Given the description of an element on the screen output the (x, y) to click on. 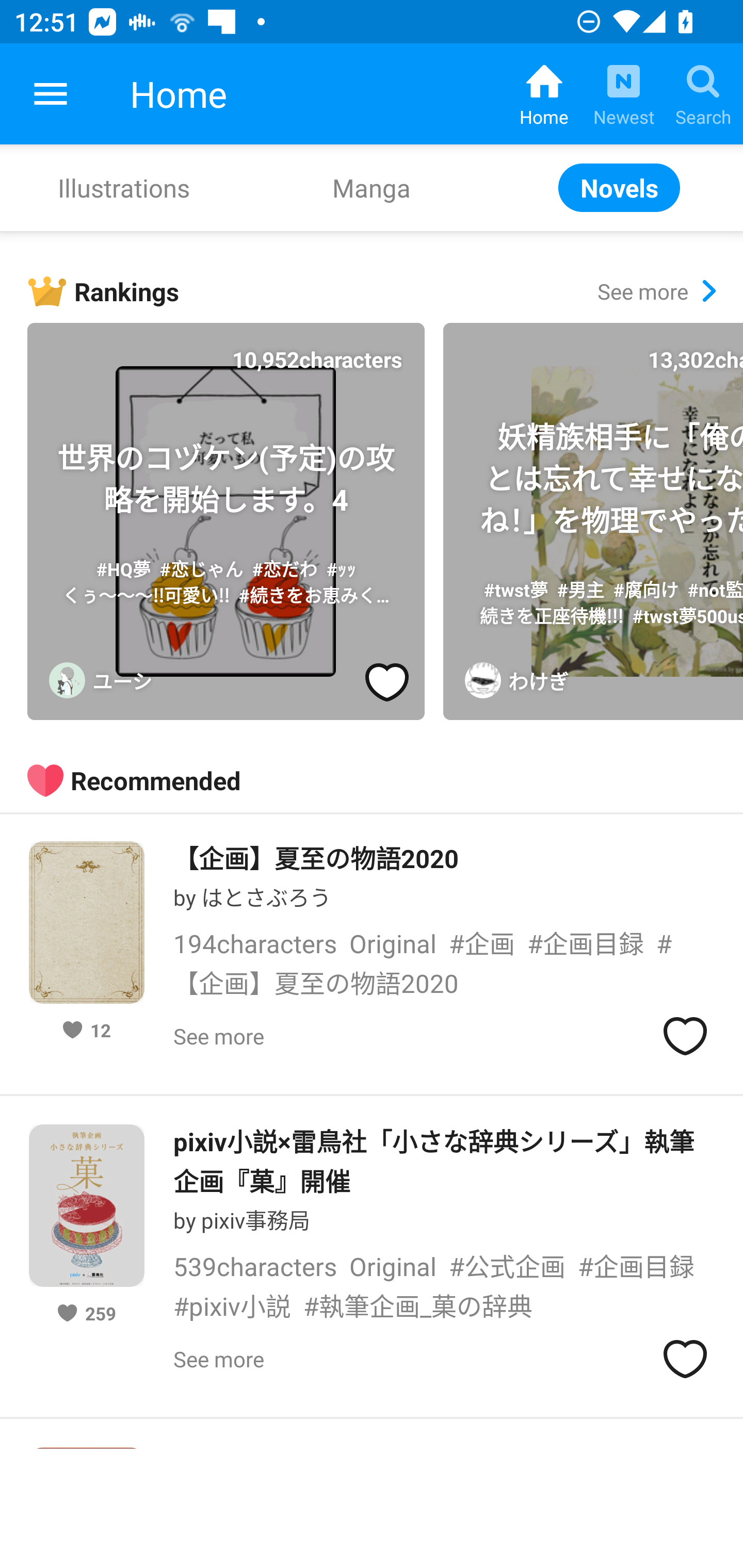
pixiv (50, 93)
Newest (623, 93)
Search (703, 93)
Illustrations (123, 187)
Manga (371, 187)
Novels (619, 187)
Rankings See more (385, 291)
